Given the description of an element on the screen output the (x, y) to click on. 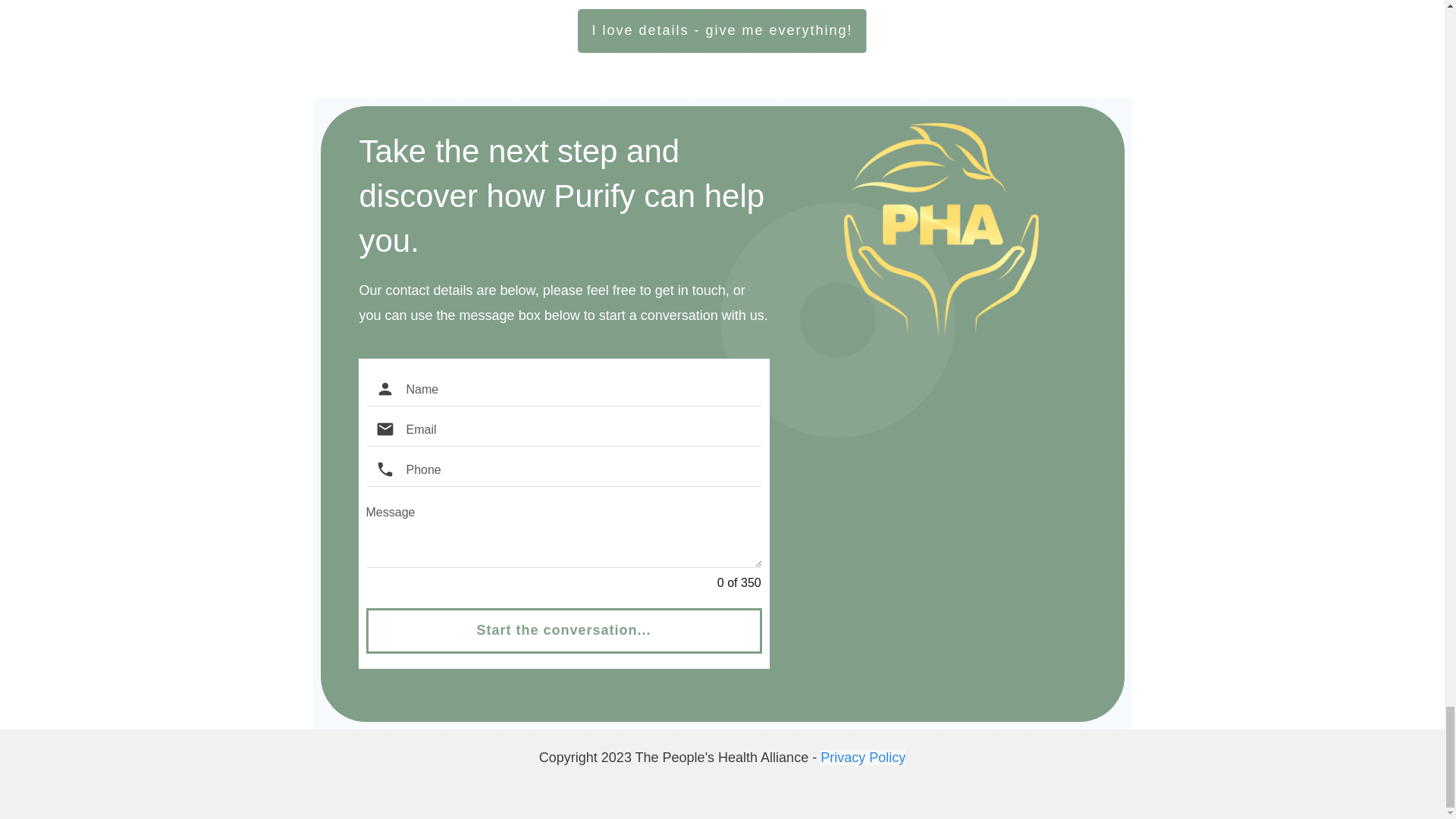
Start the conversation... (563, 630)
I love details - give me everything! (722, 31)
Privacy Policy (863, 757)
